Given the description of an element on the screen output the (x, y) to click on. 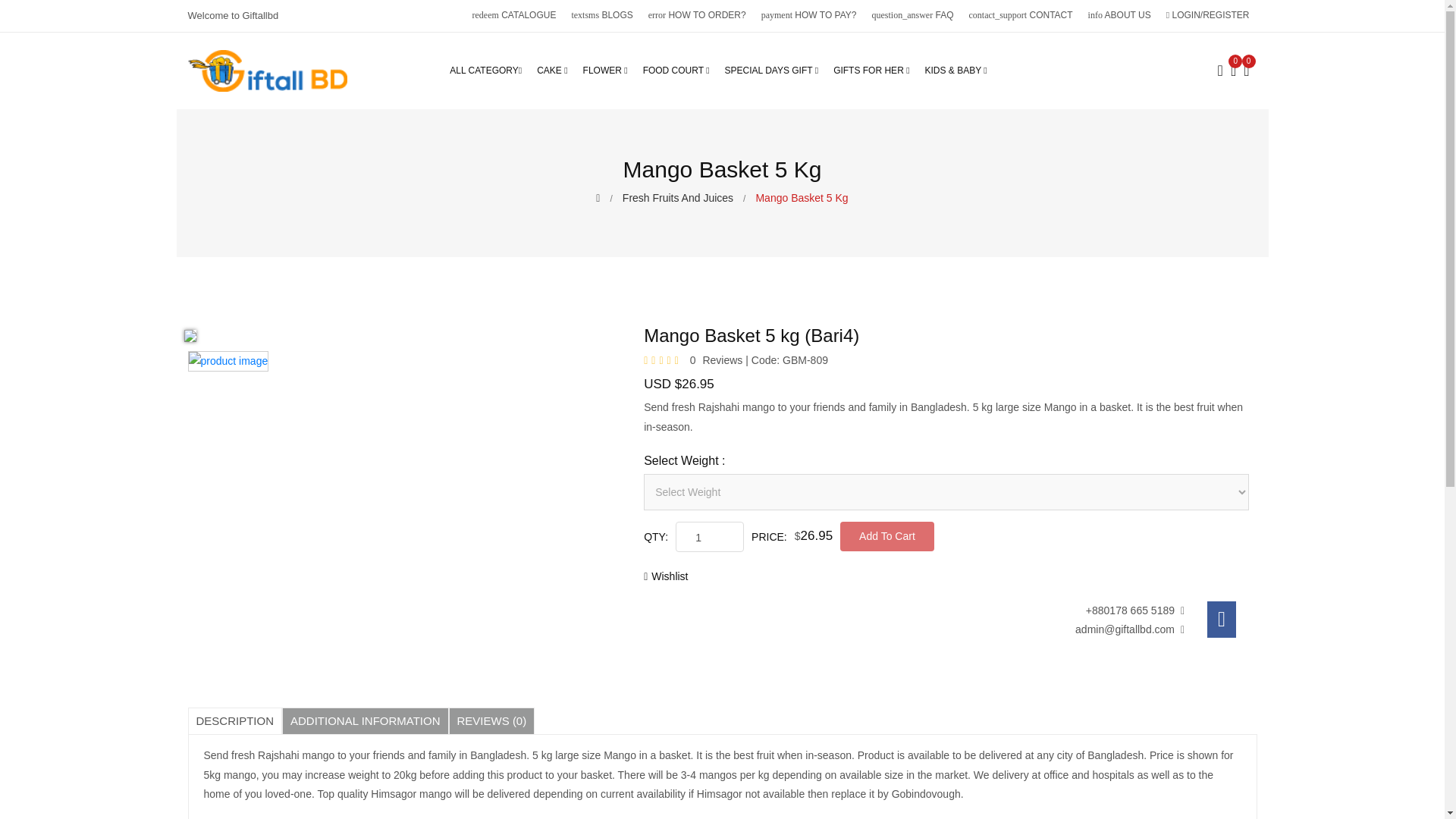
redeem CATALOGUE (514, 15)
info ABOUT US (1119, 15)
payment HOW TO PAY? (809, 15)
error HOW TO ORDER? (697, 15)
ALL CATEGORY (489, 70)
textsms BLOGS (601, 15)
product image (228, 361)
